Given the description of an element on the screen output the (x, y) to click on. 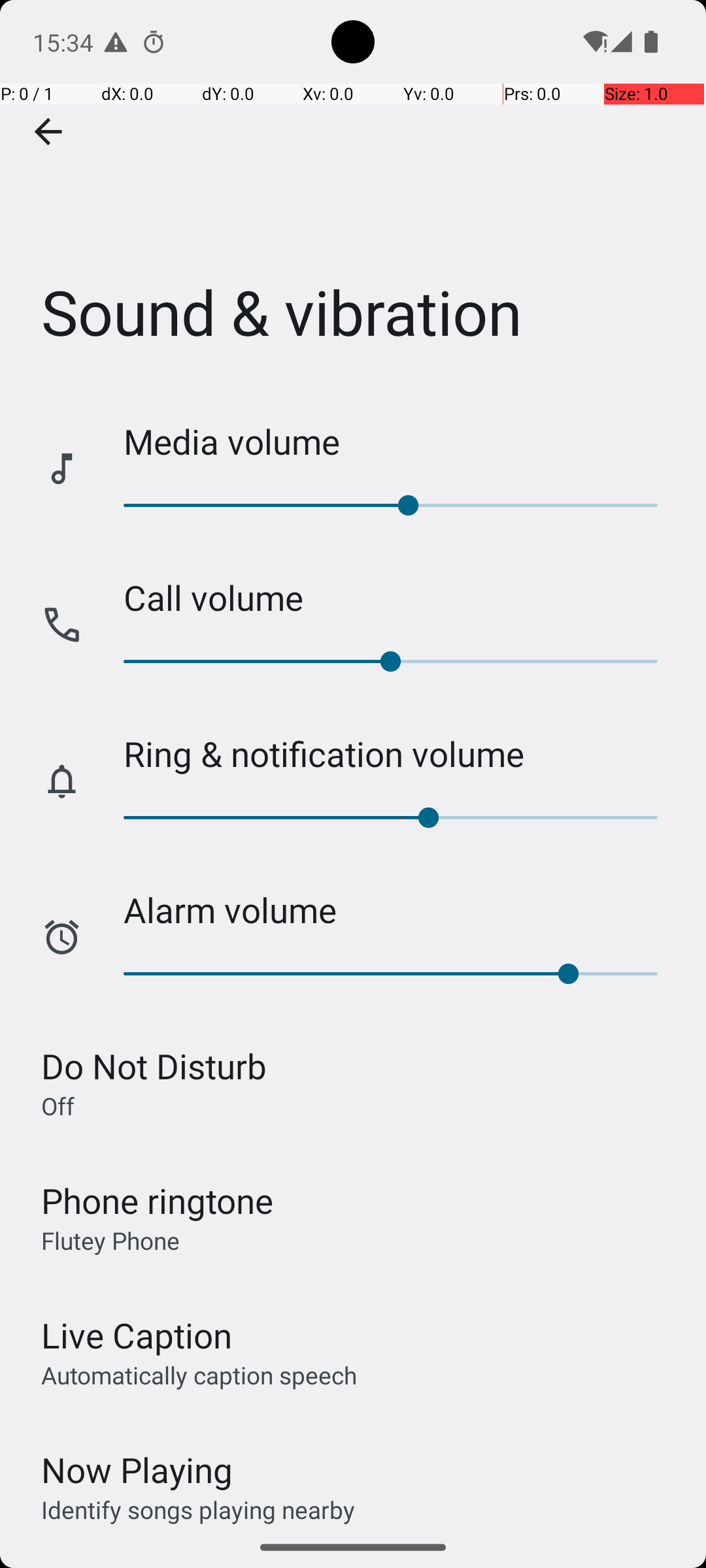
Sound & vibration Element type: android.widget.FrameLayout (353, 195)
Media volume Element type: android.widget.TextView (400, 441)
Call volume Element type: android.widget.TextView (400, 597)
Ring & notification volume Element type: android.widget.TextView (400, 753)
Alarm volume Element type: android.widget.TextView (400, 909)
Do Not Disturb Element type: android.widget.TextView (153, 1065)
Phone ringtone Element type: android.widget.TextView (157, 1200)
Flutey Phone Element type: android.widget.TextView (110, 1240)
Live Caption Element type: android.widget.TextView (136, 1334)
Automatically caption speech Element type: android.widget.TextView (199, 1374)
Now Playing Element type: android.widget.TextView (136, 1469)
Identify songs playing nearby Element type: android.widget.TextView (197, 1509)
Android System notification:  Element type: android.widget.ImageView (115, 41)
